Given the description of an element on the screen output the (x, y) to click on. 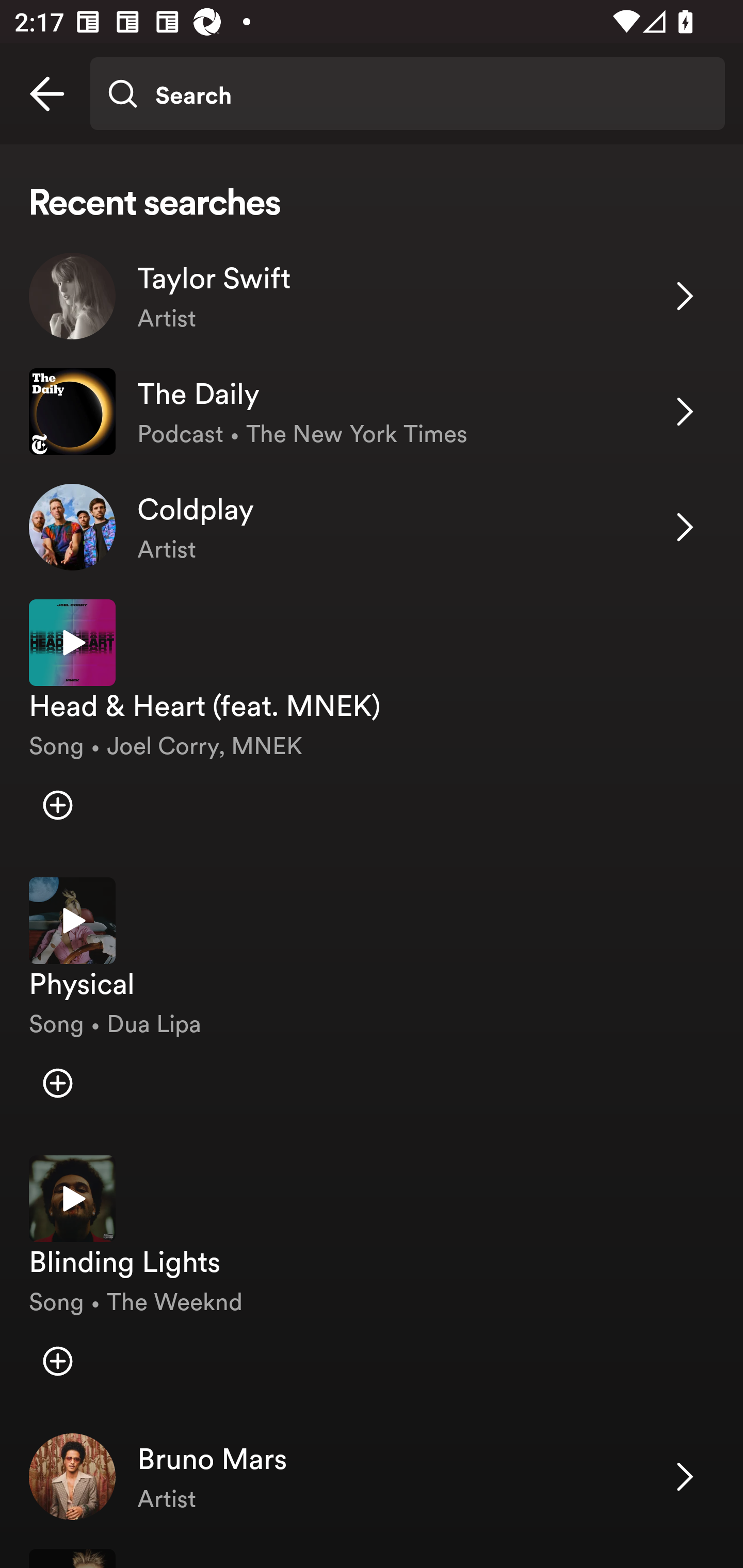
Back (46, 93)
Search (407, 94)
Taylor Swift Artist (371, 296)
The Daily Podcast • The New York Times (371, 411)
Coldplay Artist (371, 526)
Play preview (71, 642)
Add item (57, 805)
Play preview Physical Song • Dua Lipa Add item (371, 1001)
Play preview (71, 921)
Add item (57, 1082)
Play preview (71, 1198)
Add item (57, 1360)
Bruno Mars Artist (371, 1477)
